Given the description of an element on the screen output the (x, y) to click on. 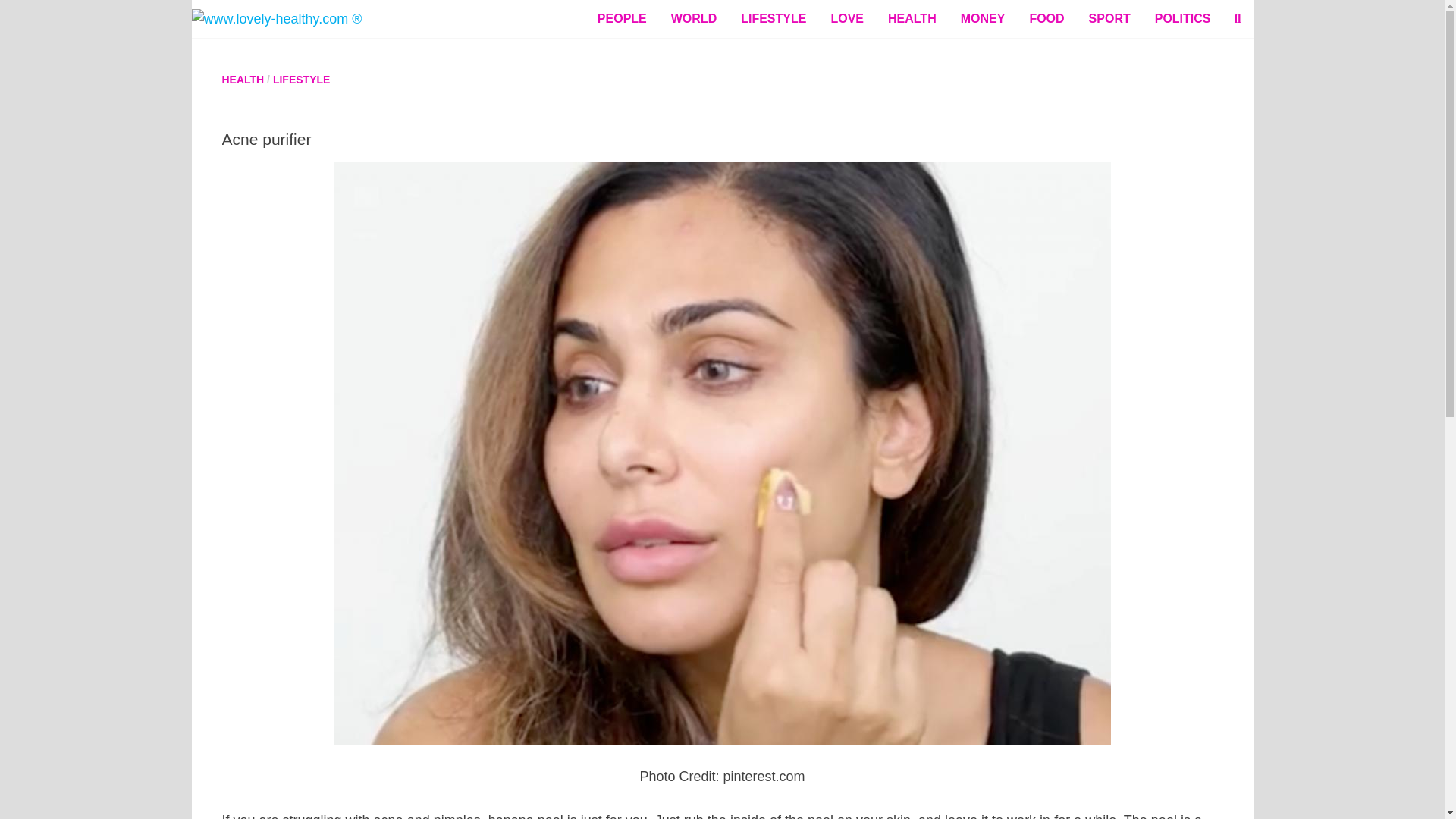
LIFESTYLE (773, 18)
FOOD (1045, 18)
HEALTH (242, 79)
SPORT (1109, 18)
LOVE (847, 18)
HEALTH (912, 18)
PEOPLE (622, 18)
POLITICS (1182, 18)
LIFESTYLE (301, 79)
MONEY (983, 18)
